Given the description of an element on the screen output the (x, y) to click on. 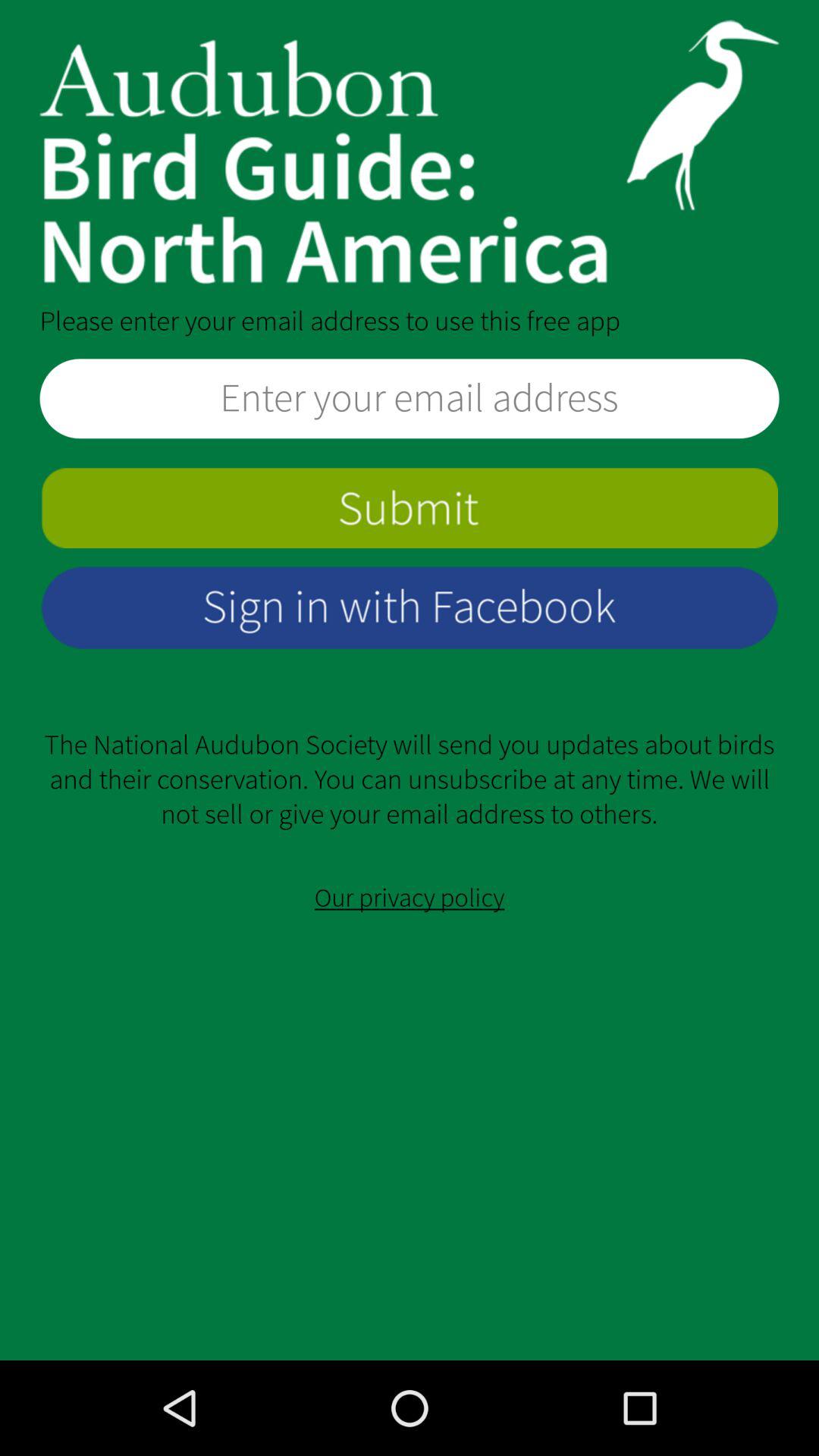
space for email entry (409, 398)
